Given the description of an element on the screen output the (x, y) to click on. 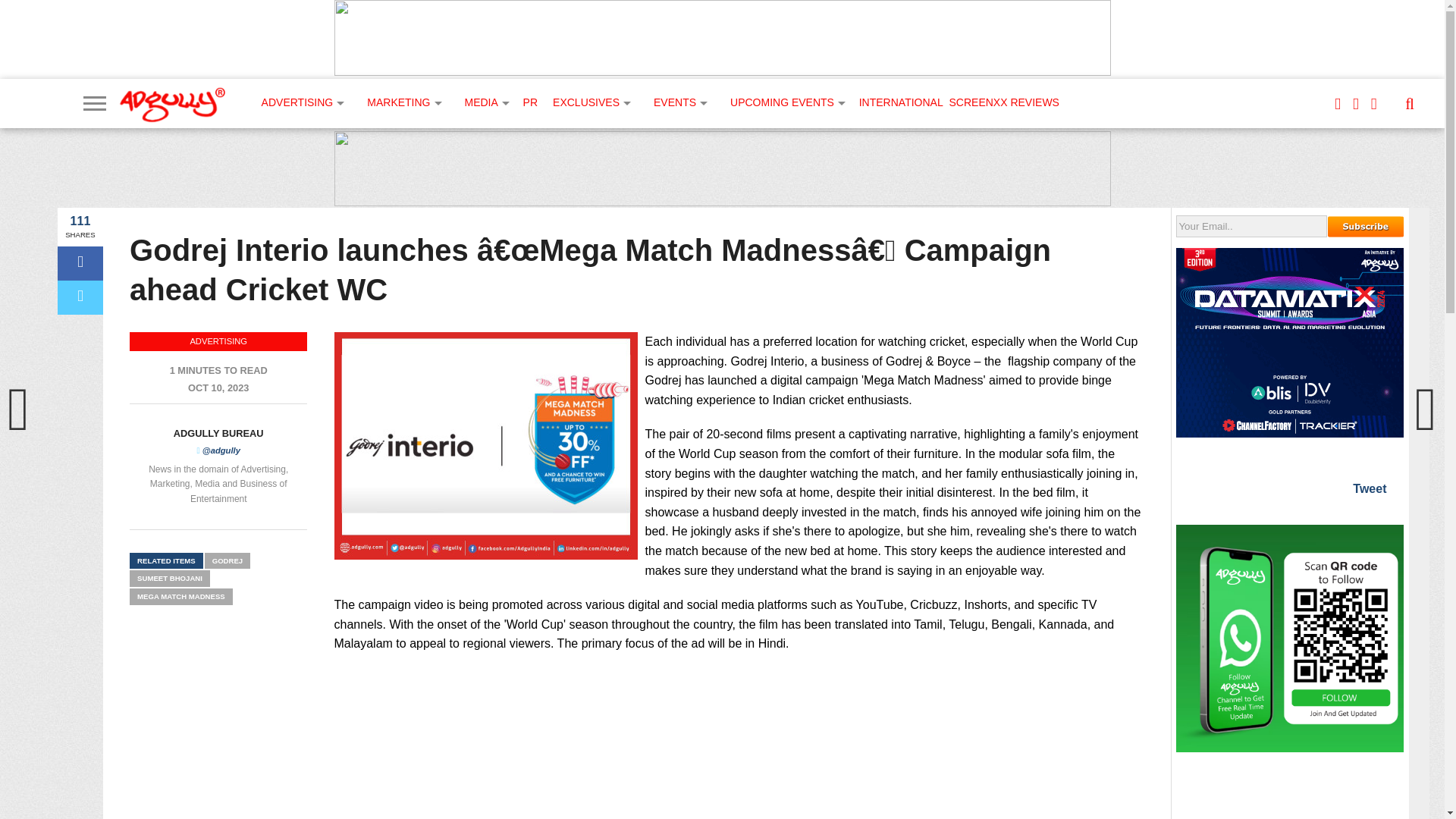
Tweet This Post (80, 297)
Share on Facebook (80, 263)
Your Email.. (1251, 226)
Posts by Adgully Bureau (218, 432)
